Given the description of an element on the screen output the (x, y) to click on. 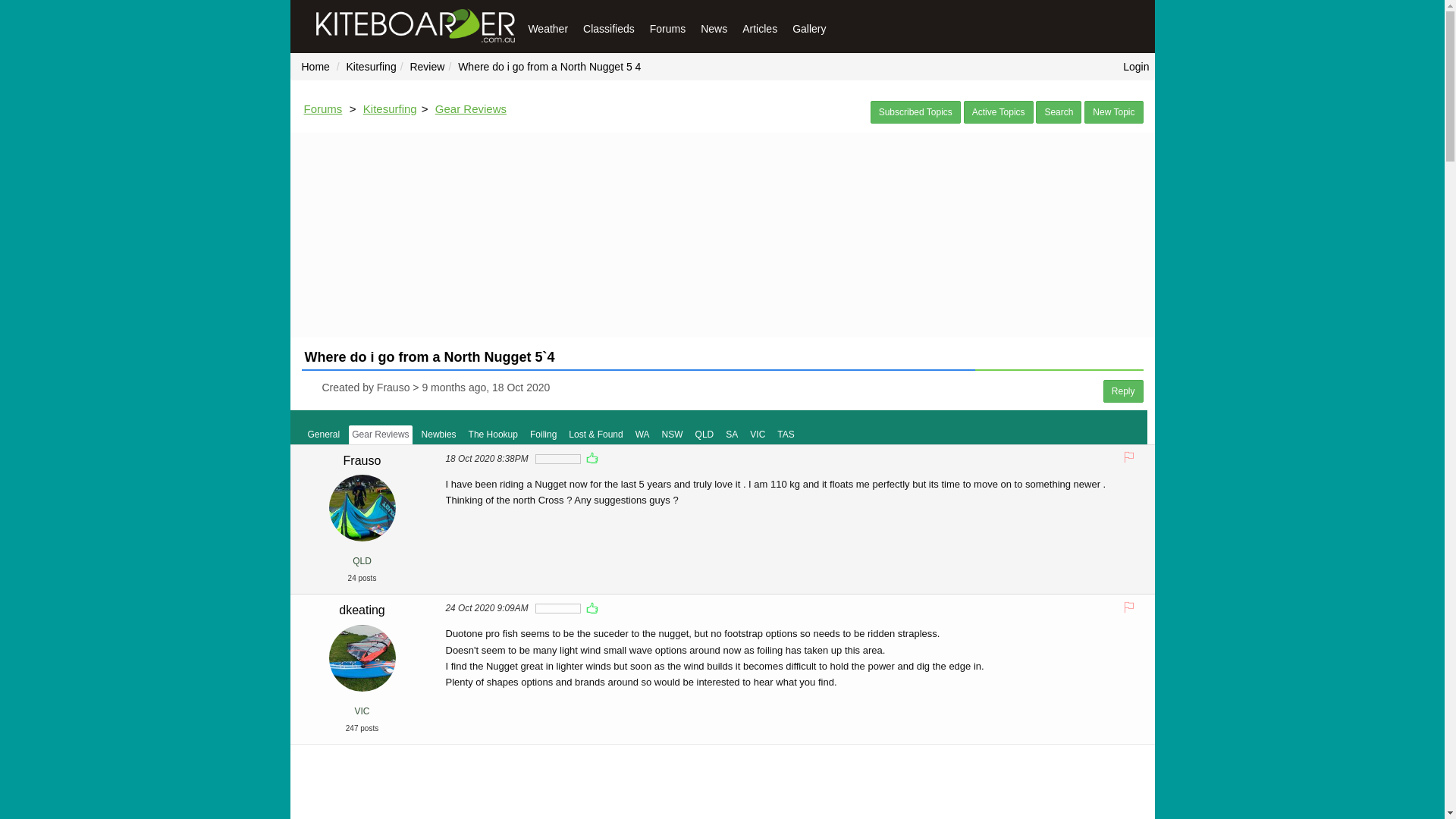
Report inappropriate content Element type: hover (1128, 456)
Newbies Element type: text (438, 434)
Where do i go from a North Nugget 5 4 Element type: text (549, 66)
Kitesurfing Element type: text (390, 109)
Gear Reviews Element type: text (379, 434)
Login Element type: text (1138, 66)
Foiling Element type: text (543, 434)
Kitesurfing Element type: text (371, 66)
Subscribed Topics Element type: text (915, 111)
Lost & Found Element type: text (595, 434)
The Hookup Element type: text (492, 434)
dkeating Element type: text (361, 609)
Forums Element type: text (322, 109)
Report inappropriate content Element type: hover (1128, 605)
WA Element type: text (642, 434)
Review Element type: text (426, 66)
Active Topics Element type: text (998, 111)
Home Element type: text (315, 66)
TAS Element type: text (785, 434)
SA Element type: text (731, 434)
New Topic Element type: text (1113, 111)
Search Element type: text (1058, 111)
QLD Element type: text (704, 434)
Gear Reviews Element type: text (470, 109)
Frauso Element type: text (362, 460)
VIC Element type: text (757, 434)
NSW Element type: text (672, 434)
General Element type: text (323, 434)
